Given the description of an element on the screen output the (x, y) to click on. 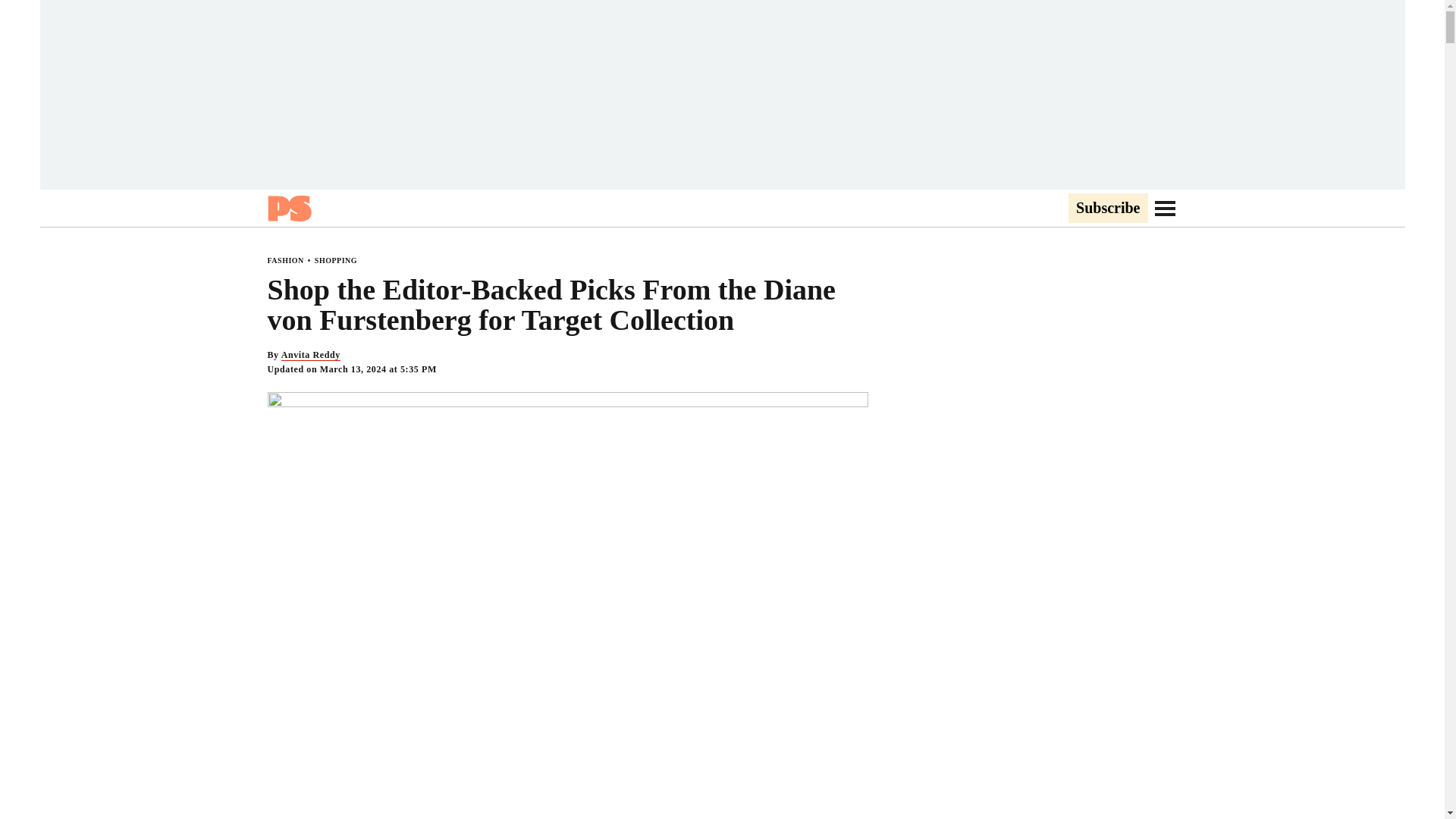
Subscribe (1107, 208)
Go to Navigation (1164, 207)
Anvita Reddy (310, 355)
FASHION (284, 260)
Popsugar (288, 208)
Go to Navigation (1164, 207)
SHOPPING (335, 260)
